Given the description of an element on the screen output the (x, y) to click on. 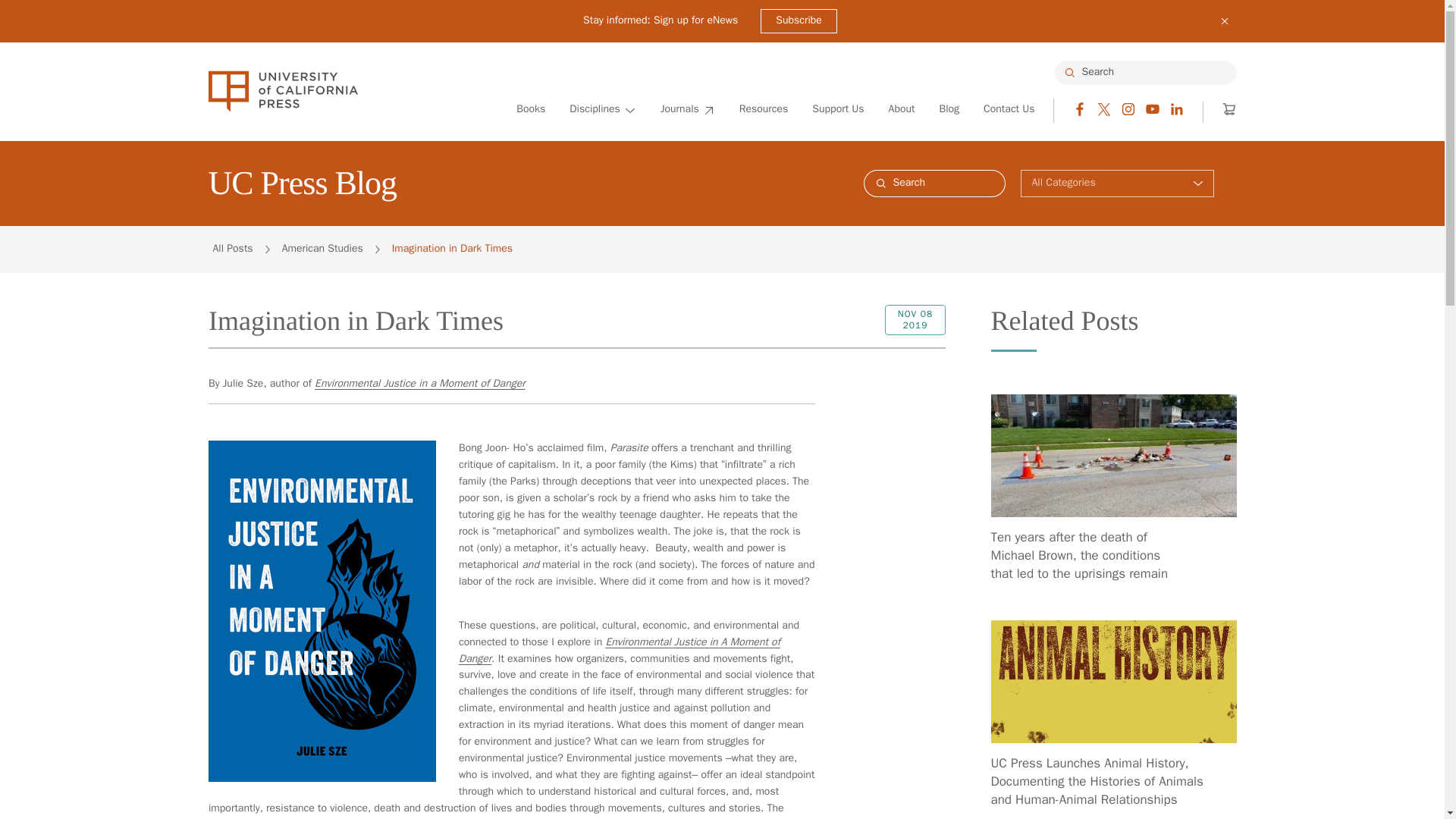
Subscribe (798, 21)
Disciplines (602, 110)
University of California Press (282, 91)
Books (530, 110)
Dismiss (1223, 21)
